Given the description of an element on the screen output the (x, y) to click on. 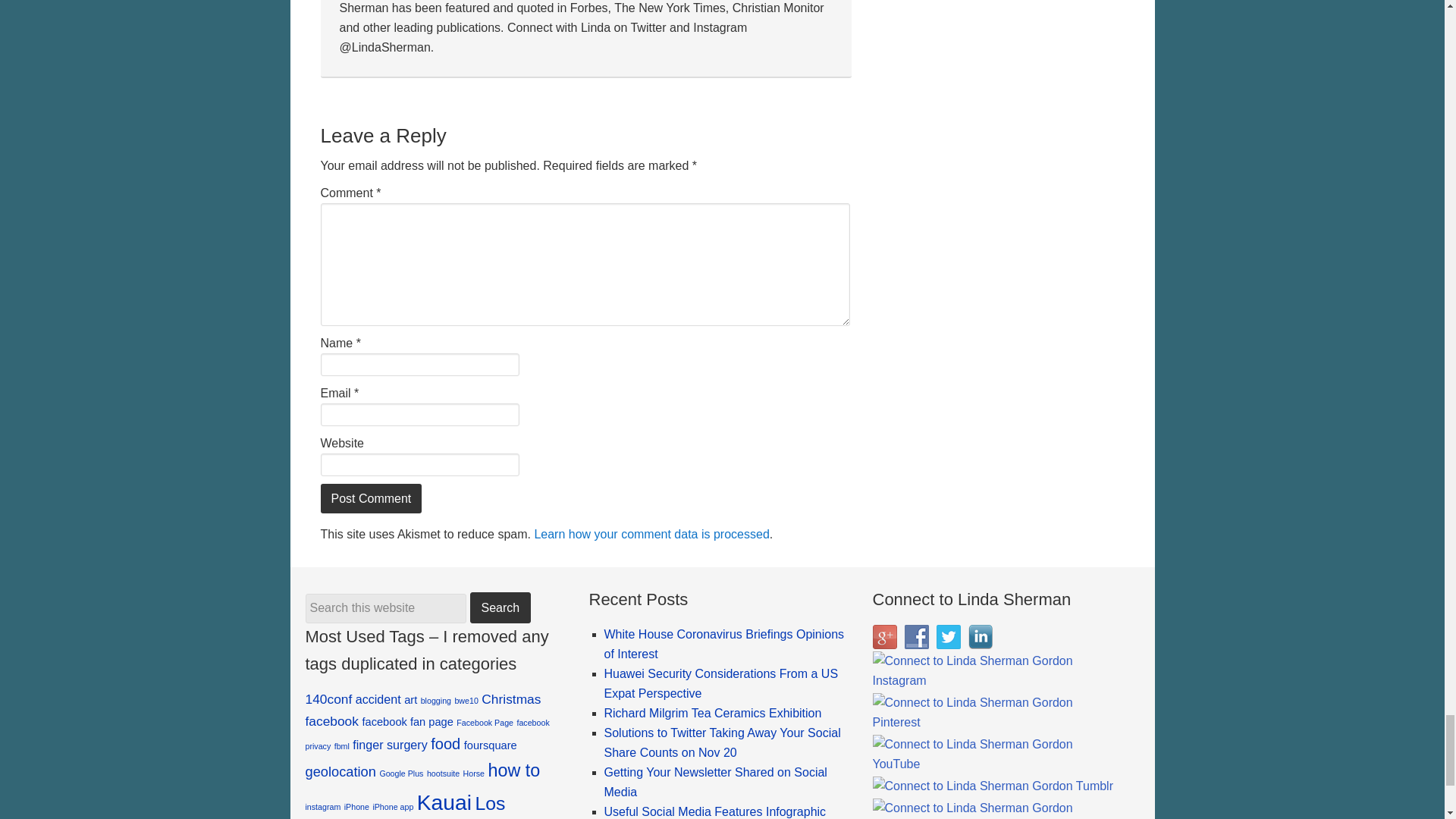
Connect to Linda Sherman Gordon Wordpress (997, 808)
Search (500, 607)
Connect to Linda Sherman Gordon Twitter (947, 636)
Post Comment (371, 498)
Connect to Linda Sherman Gordon Instagram (997, 671)
Connect to Linda Sherman Gordon YouTube (997, 753)
Connect to Linda Sherman Gordon LinkedIn (979, 636)
Connect to Linda Sherman Gordon Tumblr (992, 786)
Search (500, 607)
Connect to Linda Sherman Gordon Facebook (916, 636)
Connect to Linda Sherman Gordon Pinterest (997, 712)
